Given the description of an element on the screen output the (x, y) to click on. 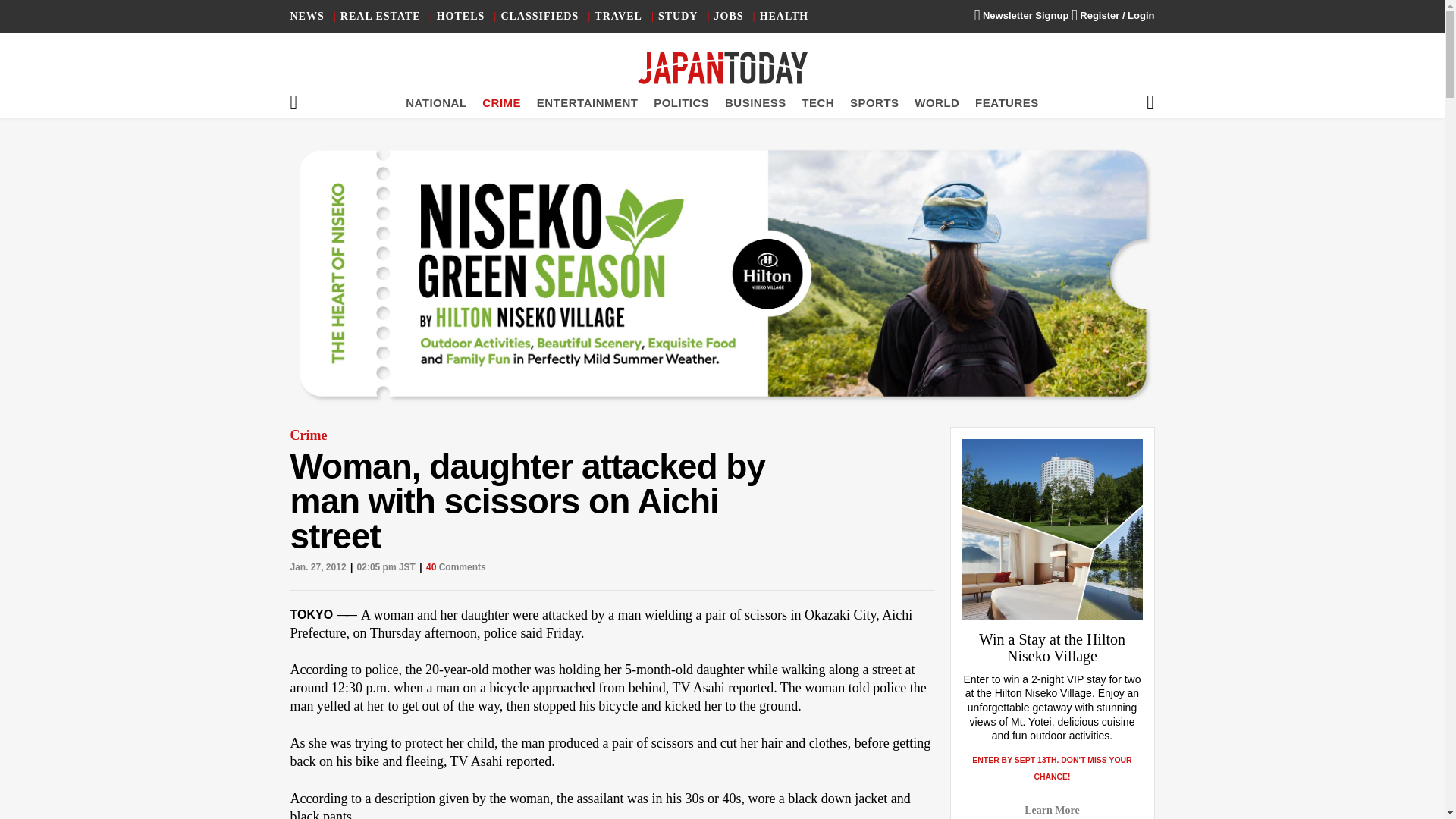
Newsletter Signup (1021, 15)
HEALTH (784, 16)
FEATURES (1007, 102)
POLITICS (681, 102)
TECH (818, 102)
CLASSIFIEDS (539, 16)
TRAVEL (618, 16)
STUDY (677, 16)
NATIONAL (435, 102)
Japan Today (721, 67)
